Given the description of an element on the screen output the (x, y) to click on. 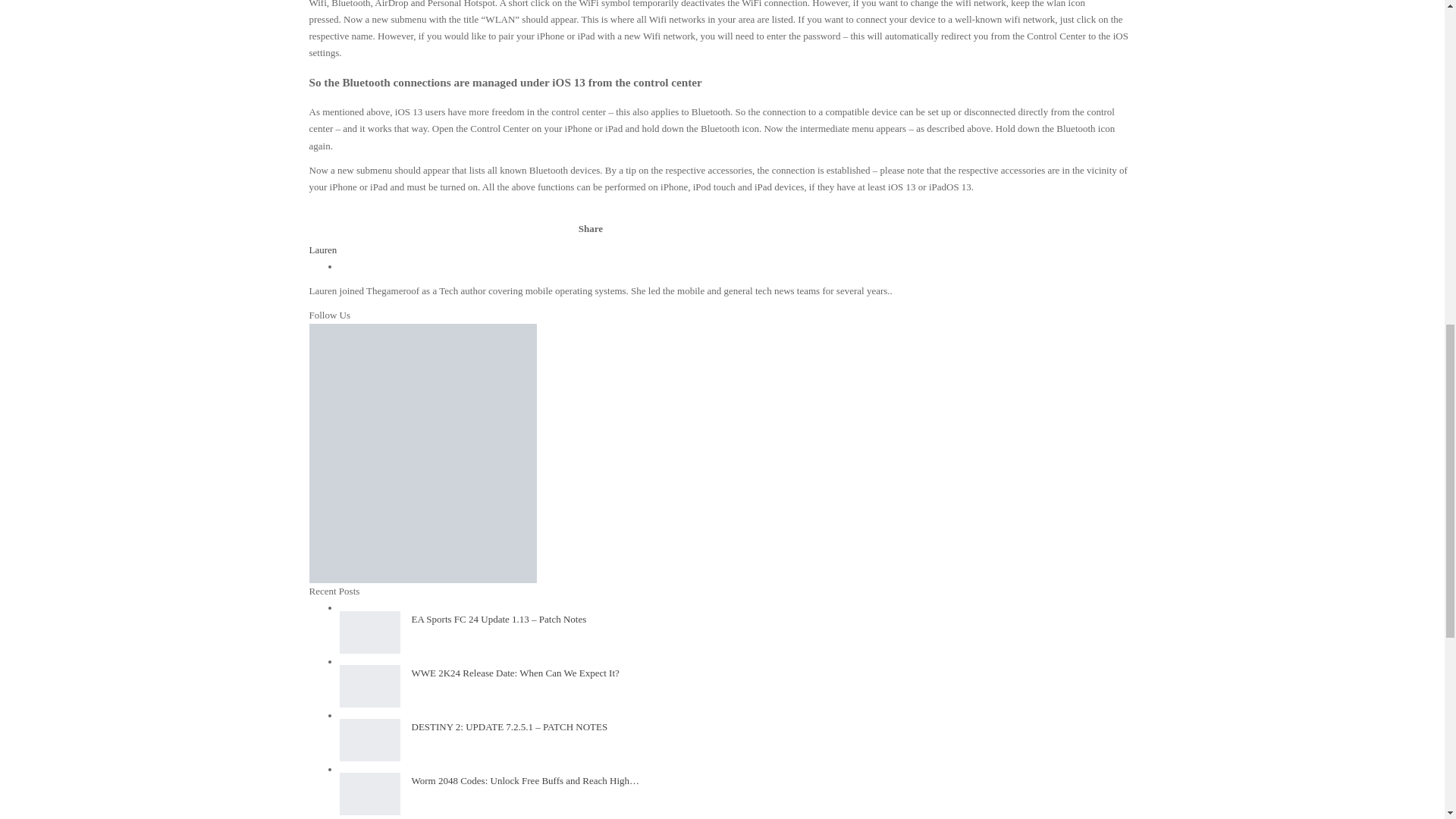
Lauren (322, 249)
Worm 2048 Codes: Unlock Free Buffs and Reach High Scores! (369, 793)
WWE 2K24 Release Date: When Can We Expect It? (369, 686)
Follow Us on Google News (422, 358)
